Given the description of an element on the screen output the (x, y) to click on. 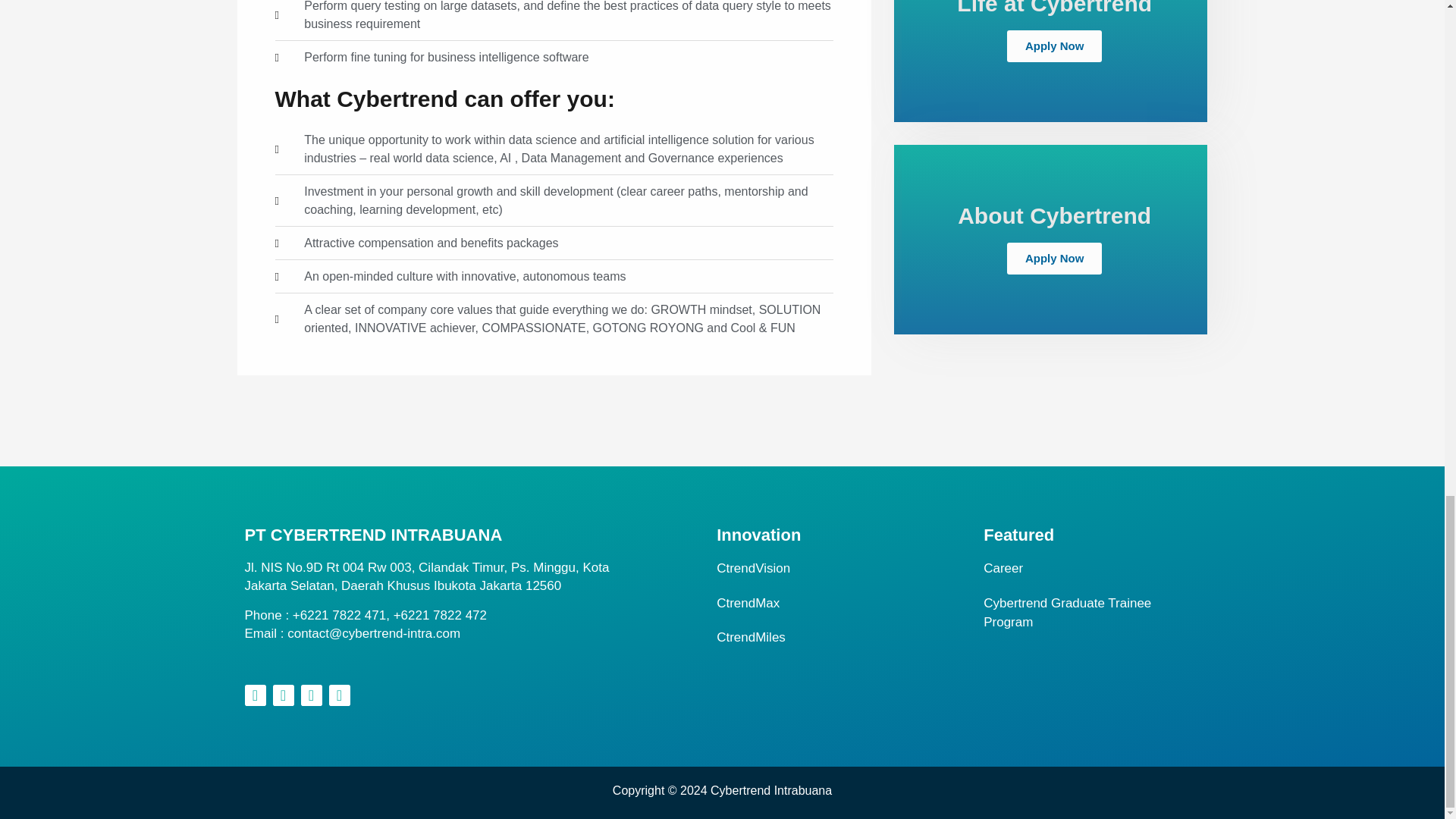
Cybertrend Graduate Trainee Program (1090, 611)
Career (1090, 568)
Innovation (758, 534)
Apply Now (1054, 46)
Apply Now (1054, 258)
